Given the description of an element on the screen output the (x, y) to click on. 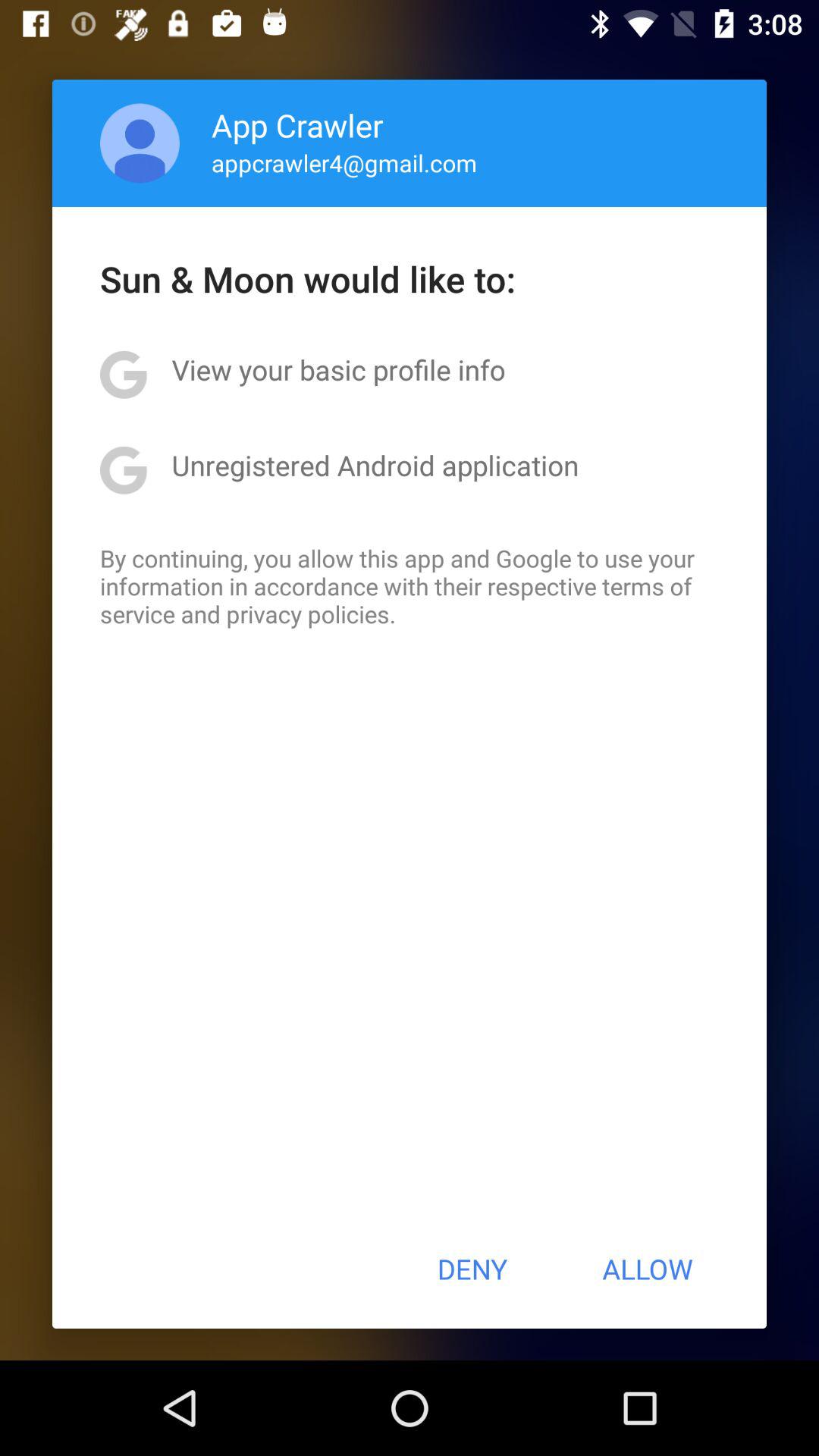
press app below sun moon would (338, 369)
